Given the description of an element on the screen output the (x, y) to click on. 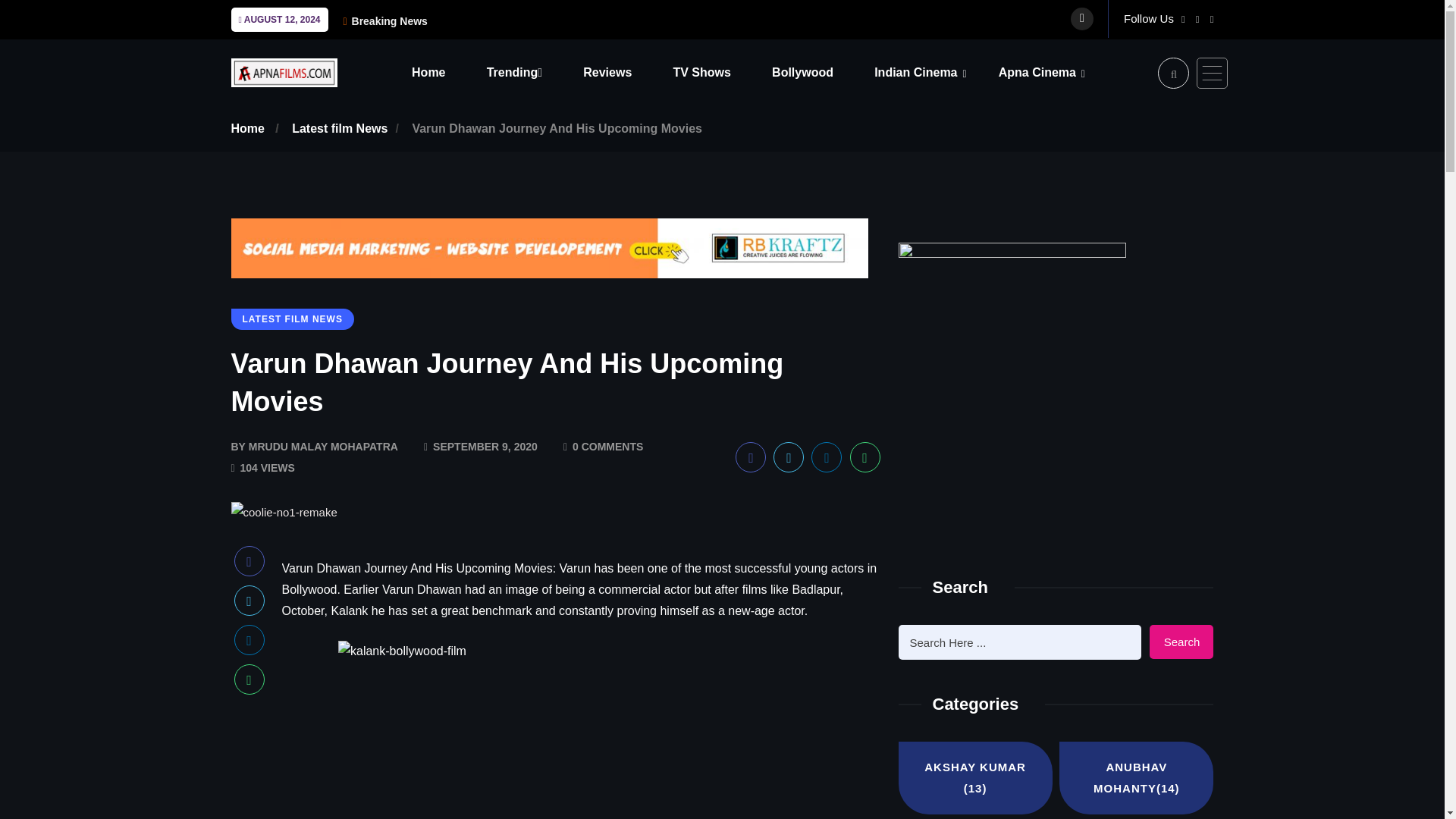
Varun Dhawan Journey And His Upcoming Movies 2 (580, 729)
Indian Cinema (934, 72)
TV Shows (720, 72)
Home (447, 72)
Varun Dhawan Journey And His Upcoming Movies 1 (283, 512)
Bollywood (820, 72)
Tamil Cinema (969, 113)
Apna Cinema (1055, 72)
Reviews (626, 72)
Devotional (1093, 113)
